Given the description of an element on the screen output the (x, y) to click on. 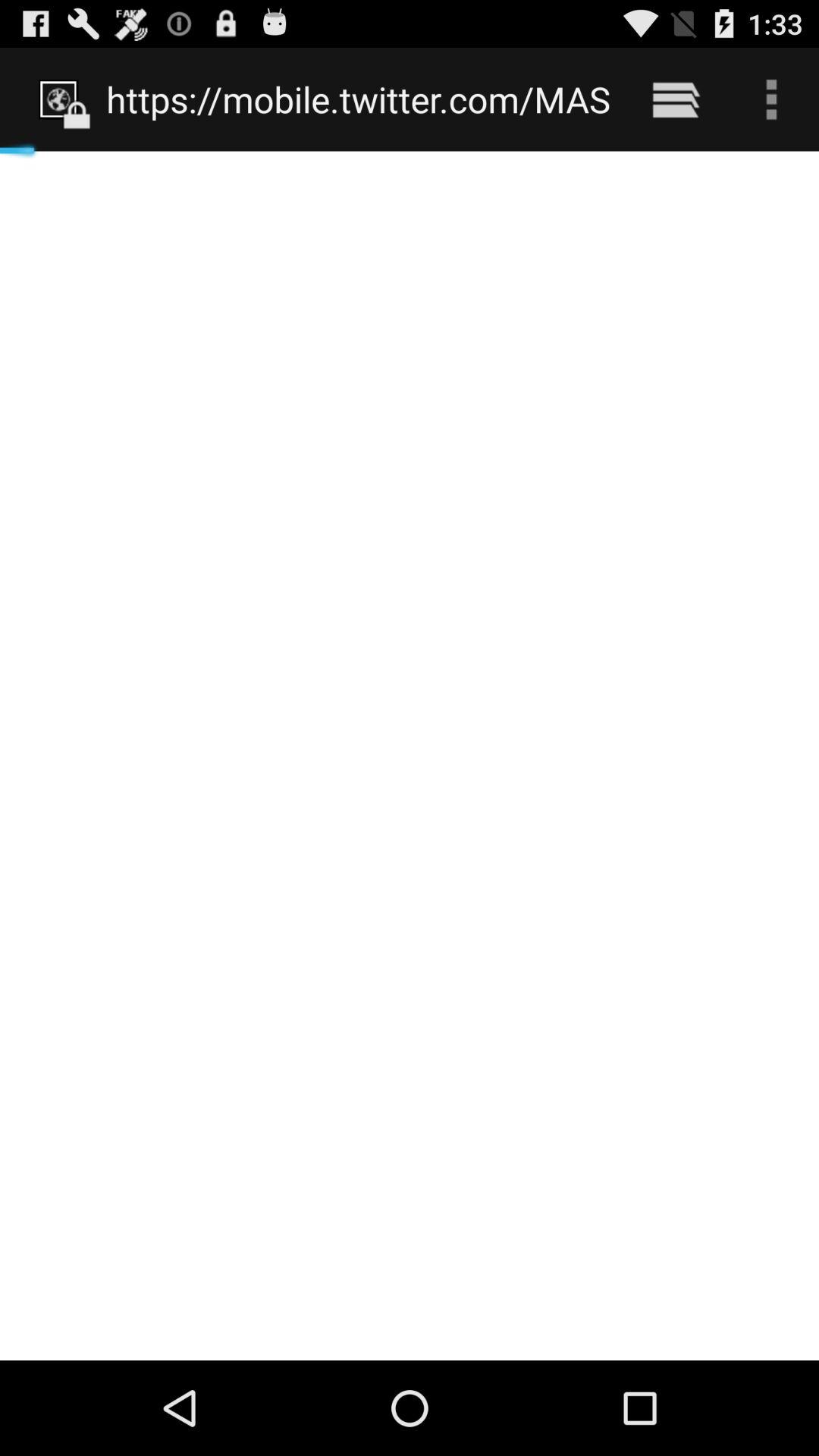
open the icon below https mobile twitter item (409, 755)
